Given the description of an element on the screen output the (x, y) to click on. 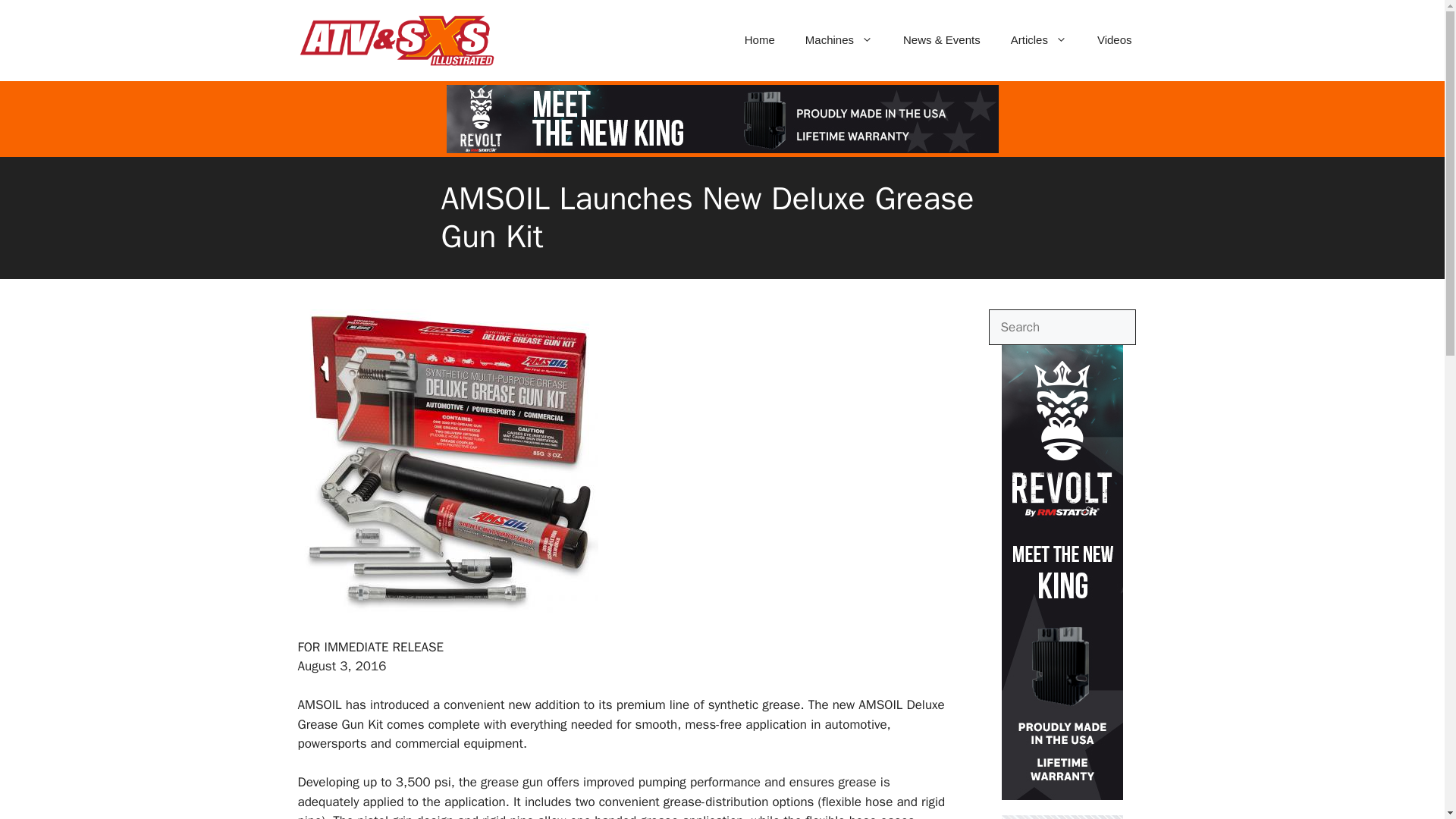
Amsoil Grease Gun Kit (446, 608)
Videos (1114, 40)
Articles (1038, 40)
Machines (839, 40)
Amsoil Grease Gun Kit (446, 460)
Home (759, 40)
